Given the description of an element on the screen output the (x, y) to click on. 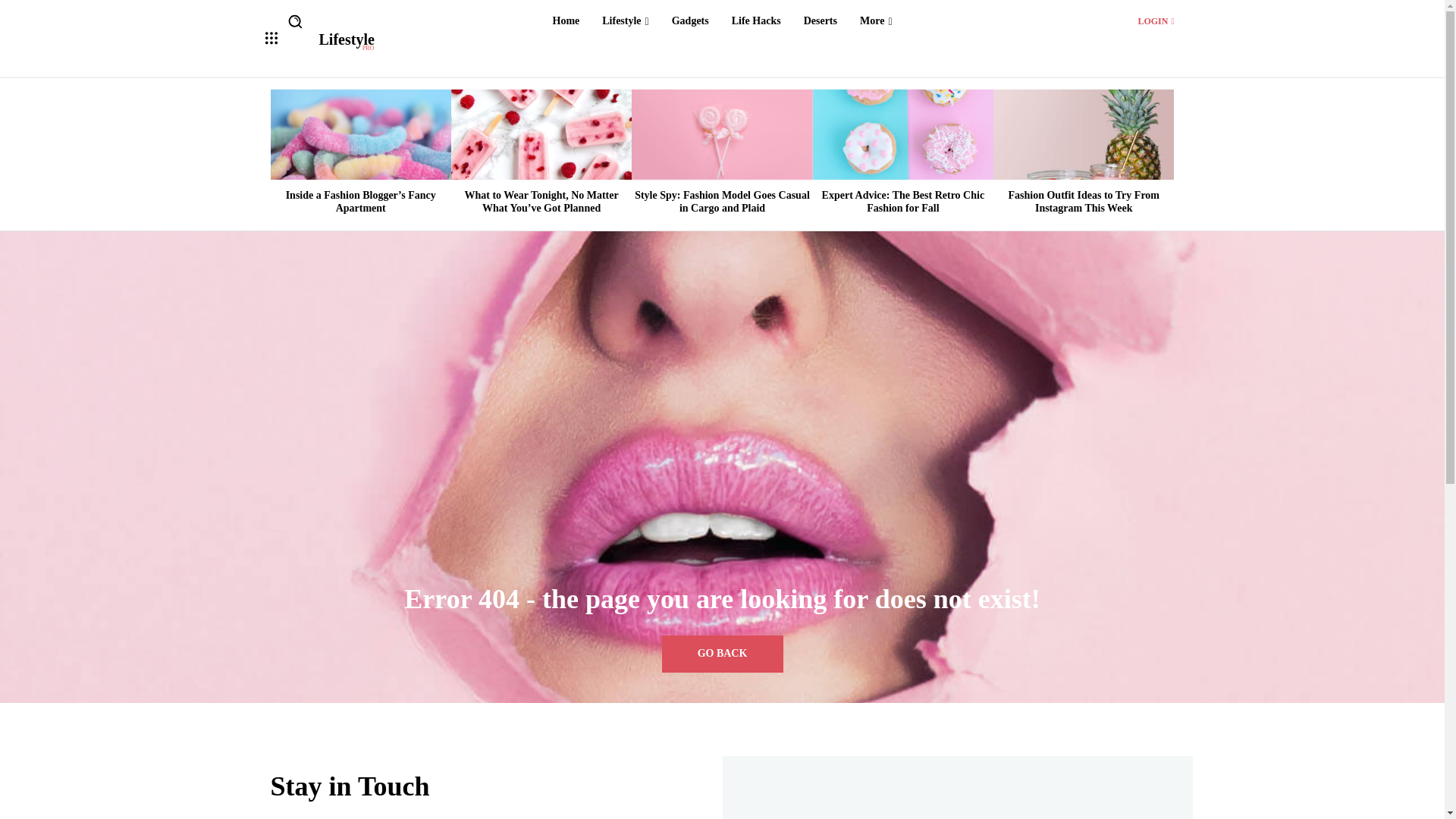
Expert Advice: The Best Retro Chic Fashion for Fall (346, 41)
More (903, 201)
Style Spy: Fashion Model Goes Casual in Cargo and Plaid (875, 20)
Style Spy: Fashion Model Goes Casual in Cargo and Plaid (721, 201)
Lifestyle (721, 134)
Gadgets (625, 20)
Deserts (689, 20)
Expert Advice: The Best Retro Chic Fashion for Fall (820, 20)
LOGIN (902, 134)
